Given the description of an element on the screen output the (x, y) to click on. 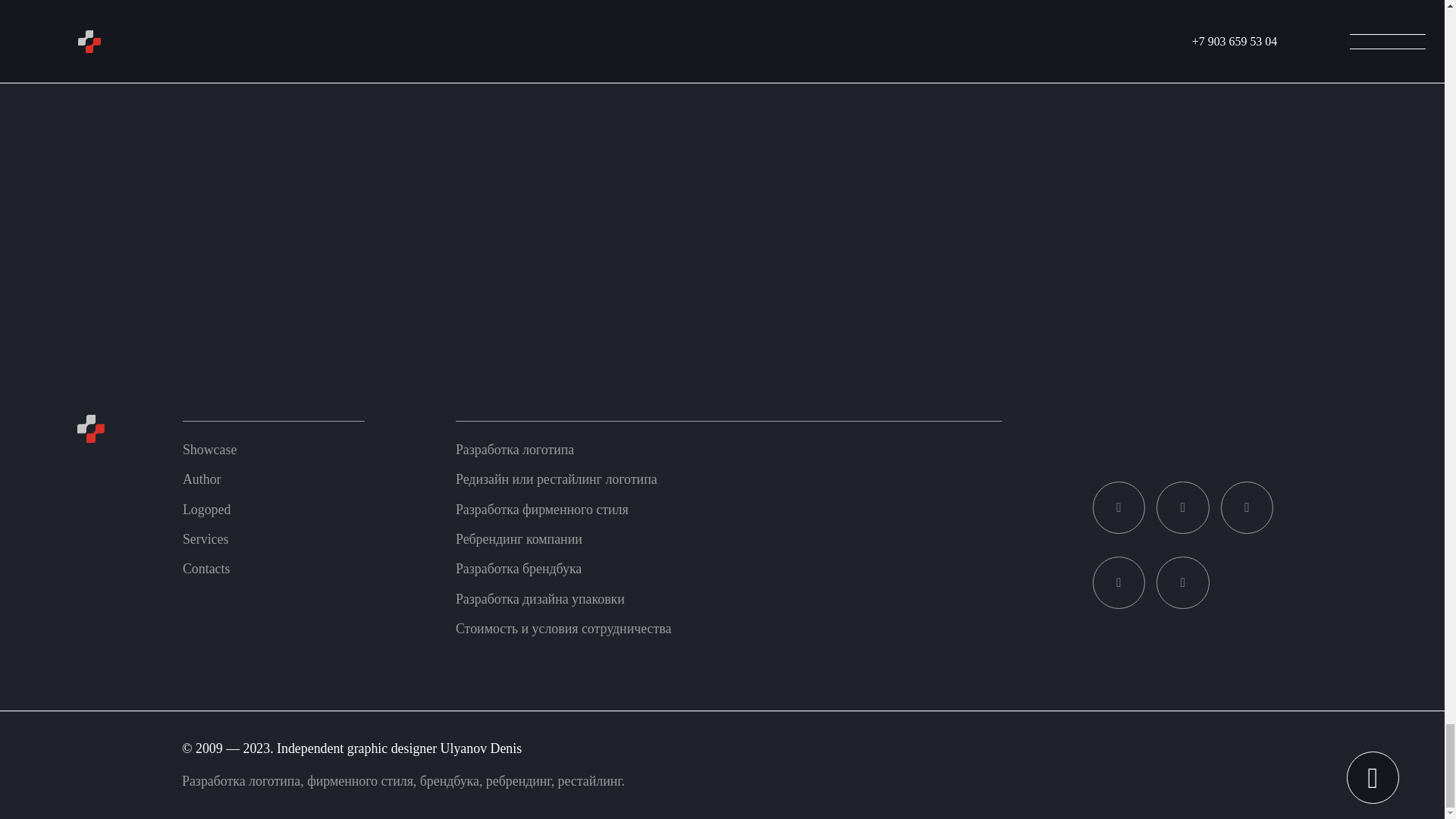
Showcase (209, 449)
Contacts (206, 568)
Author (202, 478)
Services (205, 539)
Logoped (206, 509)
